Given the description of an element on the screen output the (x, y) to click on. 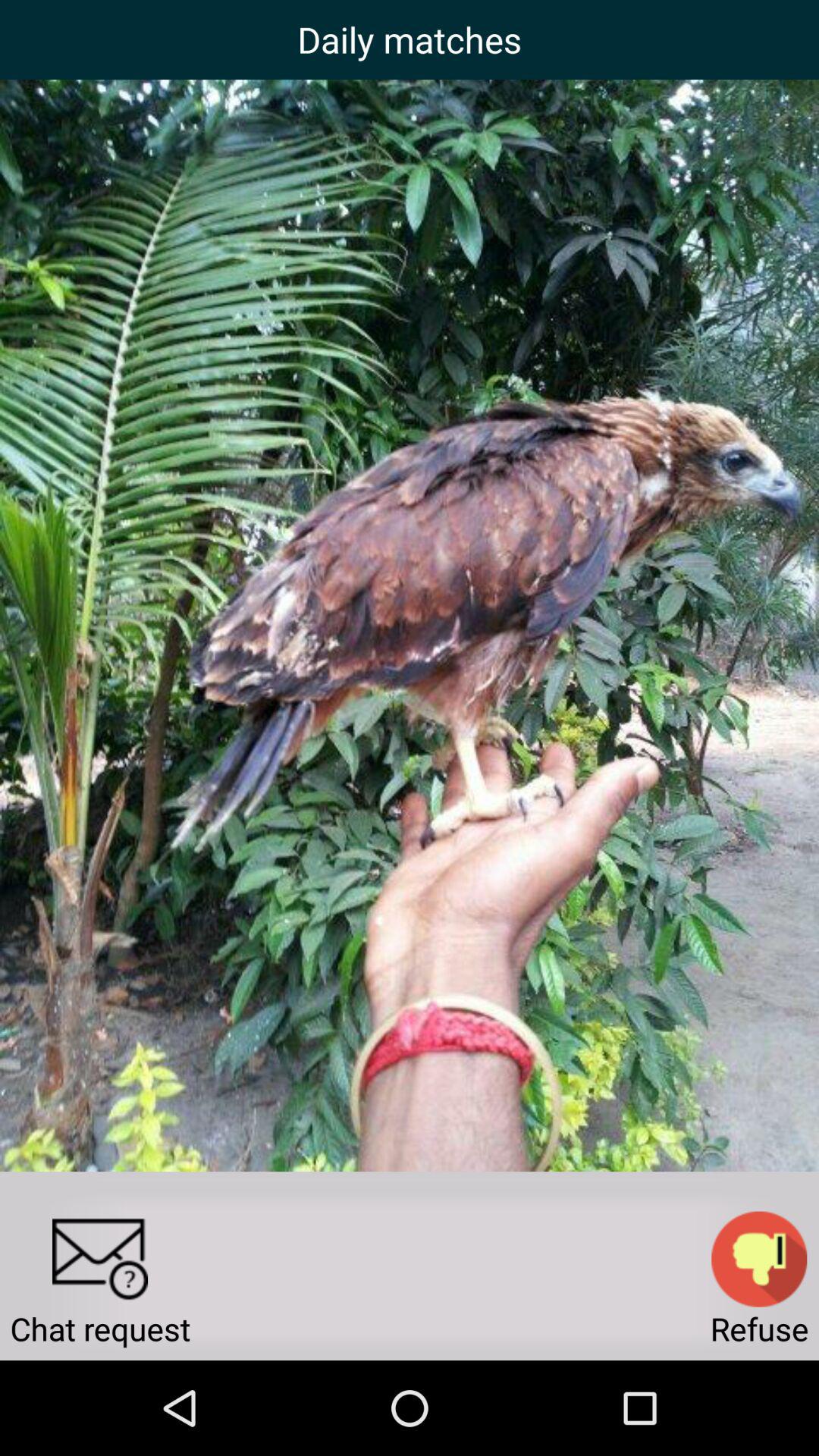
send a message (99, 1258)
